Given the description of an element on the screen output the (x, y) to click on. 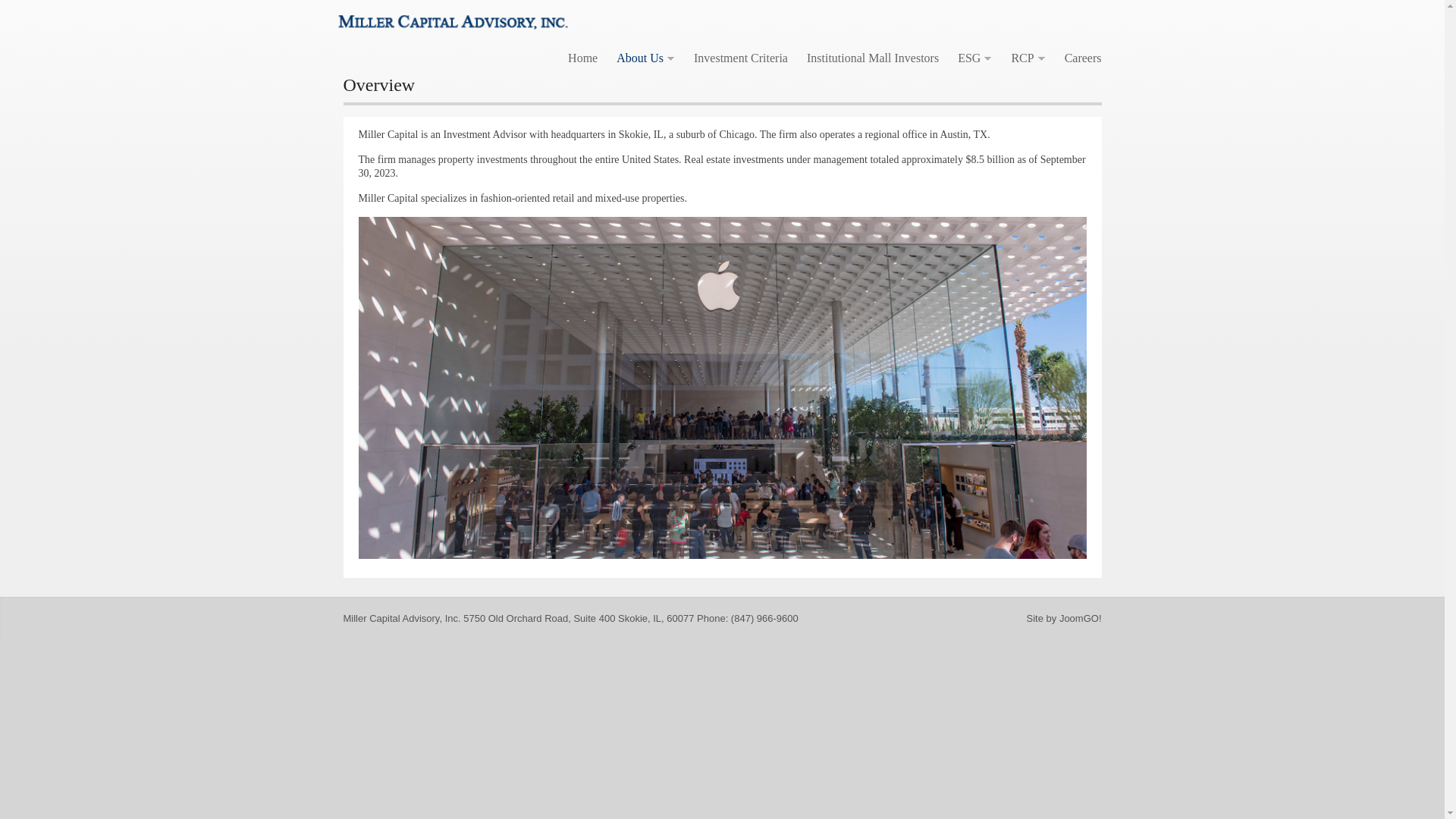
JoomGO! (1080, 618)
Institutional Mall Investors (872, 58)
Investment Criteria (739, 58)
Home (582, 58)
Careers (1083, 58)
